Given the description of an element on the screen output the (x, y) to click on. 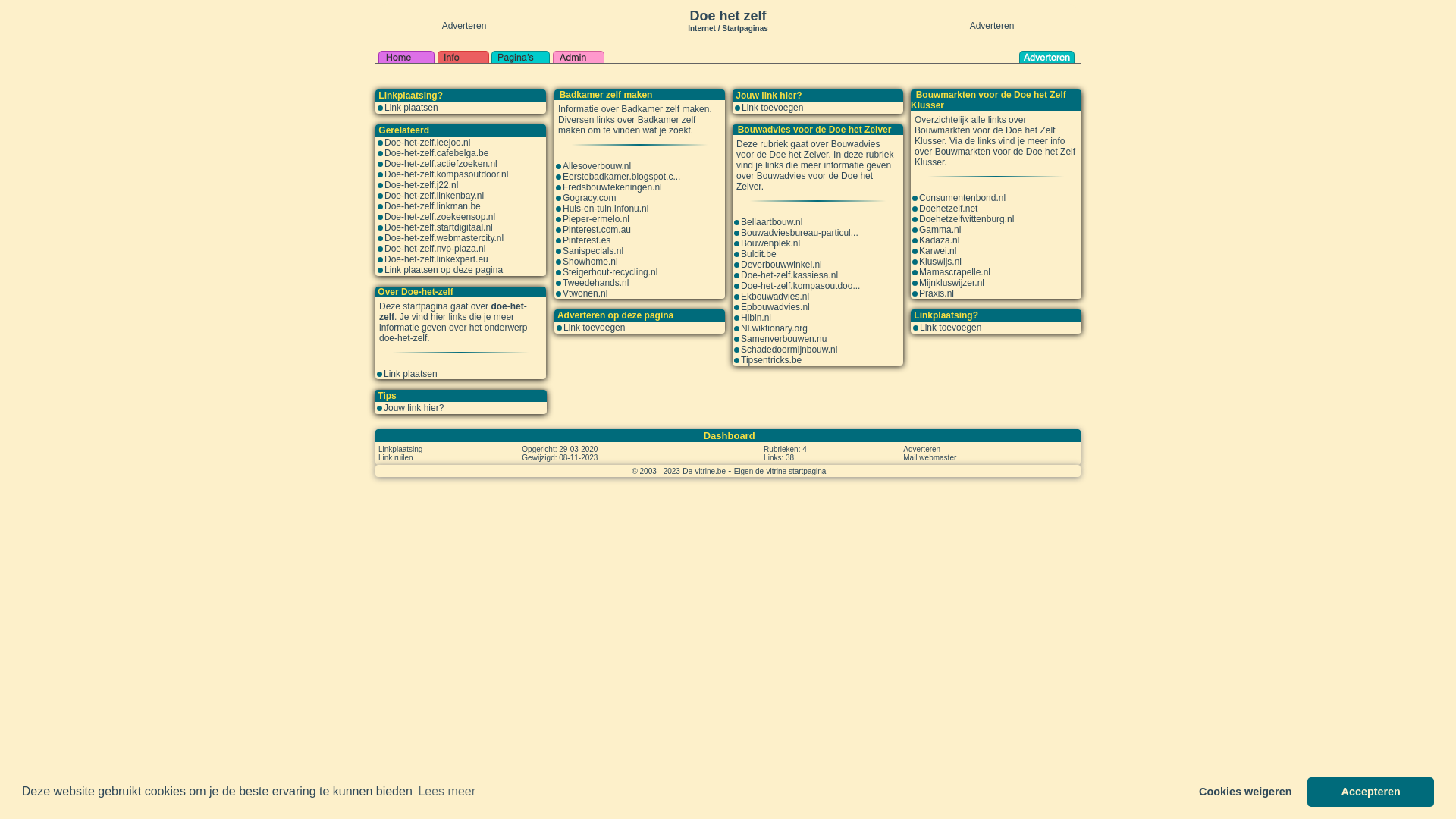
Praxis.nl Element type: text (936, 293)
Huis-en-tuin.infonu.nl Element type: text (605, 208)
Tipsentricks.be Element type: text (770, 359)
Eigen de-vitrine startpagina Element type: text (780, 470)
Schadedoormijnbouw.nl Element type: text (788, 349)
Adverteren Element type: text (991, 25)
Adverteren Element type: text (464, 25)
Sanispecials.nl Element type: text (592, 250)
Doe-het-zelf.kompasoutdoor.nl Element type: text (446, 174)
Link toevoegen Element type: text (950, 327)
Linkplaatsing Element type: text (400, 448)
Kluswijs.nl Element type: text (940, 261)
Doe-het-zelf.kompasoutdoo... Element type: text (799, 285)
Pieper-ermelo.nl Element type: text (595, 218)
Doe-het-zelf.zoekeensop.nl Element type: text (439, 216)
Doe-het-zelf.linkman.be Element type: text (432, 205)
Vtwonen.nl Element type: text (584, 293)
Lees meer Element type: text (446, 791)
Startpaginas Element type: text (744, 28)
Mamascrapelle.nl Element type: text (954, 271)
Doe-het-zelf.cafebelga.be Element type: text (436, 152)
Mijnkluswijzer.nl Element type: text (951, 282)
Link plaatsen Element type: text (411, 107)
Bouwenplek.nl Element type: text (770, 243)
Gamma.nl Element type: text (939, 229)
Doe-het-zelf.actiefzoeken.nl Element type: text (440, 163)
Link plaatsen Element type: text (410, 373)
Link toevoegen Element type: text (772, 107)
Doe-het-zelf.leejoo.nl Element type: text (427, 142)
Doe-het-zelf.linkenbay.nl Element type: text (433, 195)
Doehetzelf.net Element type: text (948, 208)
Deverbouwwinkel.nl Element type: text (781, 264)
Jouw link hier? Element type: text (413, 407)
Doe-het-zelf.kassiesa.nl Element type: text (788, 274)
Doe-het-zelf.j22.nl Element type: text (421, 184)
Karwei.nl Element type: text (937, 250)
Consumentenbond.nl Element type: text (962, 197)
Link ruilen Element type: text (395, 456)
Hibin.nl Element type: text (755, 317)
Fredsbouwtekeningen.nl Element type: text (612, 187)
Gogracy.com Element type: text (588, 197)
Pinterest.com.au Element type: text (596, 229)
Link plaatsen op deze pagina Element type: text (443, 269)
Ekbouwadvies.nl Element type: text (774, 296)
Doe-het-zelf.linkexpert.eu Element type: text (436, 259)
Doehetzelfwittenburg.nl Element type: text (966, 218)
Samenverbouwen.nu Element type: text (783, 338)
Internet Element type: text (701, 26)
Doe-het-zelf.nvp-plaza.nl Element type: text (434, 248)
Steigerhout-recycling.nl Element type: text (609, 271)
Doe-het-zelf.startdigitaal.nl Element type: text (438, 227)
Kadaza.nl Element type: text (939, 240)
Adverteren Element type: text (921, 448)
Pinterest.es Element type: text (586, 240)
Mail webmaster Element type: text (929, 456)
Accepteren Element type: text (1370, 791)
Allesoverbouw.nl Element type: text (596, 165)
Tweedehands.nl Element type: text (595, 282)
Link toevoegen Element type: text (593, 327)
Showhome.nl Element type: text (590, 261)
Buldit.be Element type: text (758, 253)
Doe-het-zelf.webmastercity.nl Element type: text (443, 237)
Bellaartbouw.nl Element type: text (771, 221)
Epbouwadvies.nl Element type: text (774, 306)
Eerstebadkamer.blogspot.c... Element type: text (621, 176)
De-vitrine.be Element type: text (703, 470)
Doe het zelf Element type: text (727, 15)
Cookies weigeren Element type: text (1245, 791)
Bouwadviesbureau-particul... Element type: text (799, 232)
Nl.wiktionary.org Element type: text (773, 328)
